Given the description of an element on the screen output the (x, y) to click on. 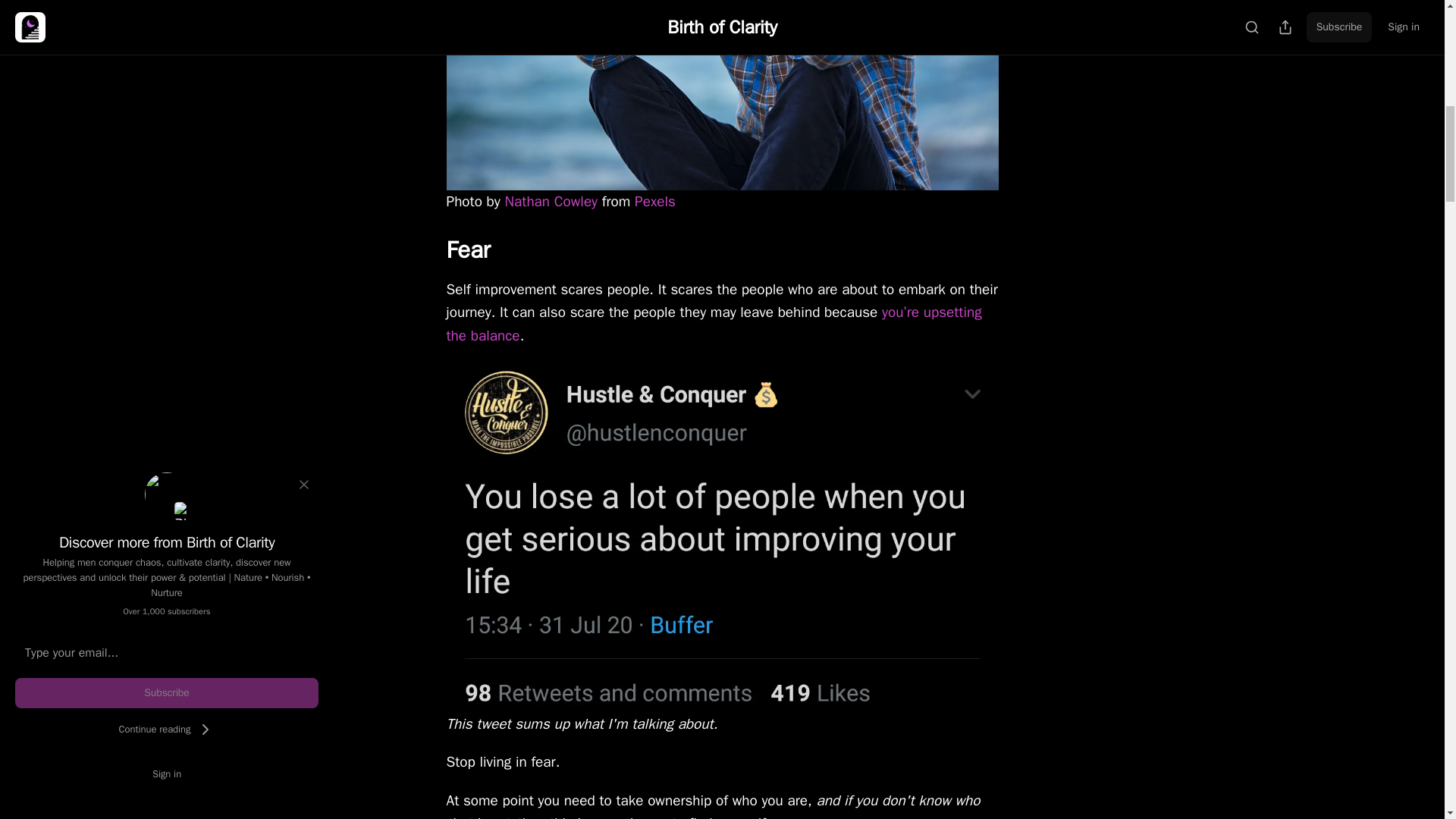
Subscribe (166, 693)
Sign in (166, 773)
Nathan Cowley (551, 201)
Pexels (654, 201)
